Given the description of an element on the screen output the (x, y) to click on. 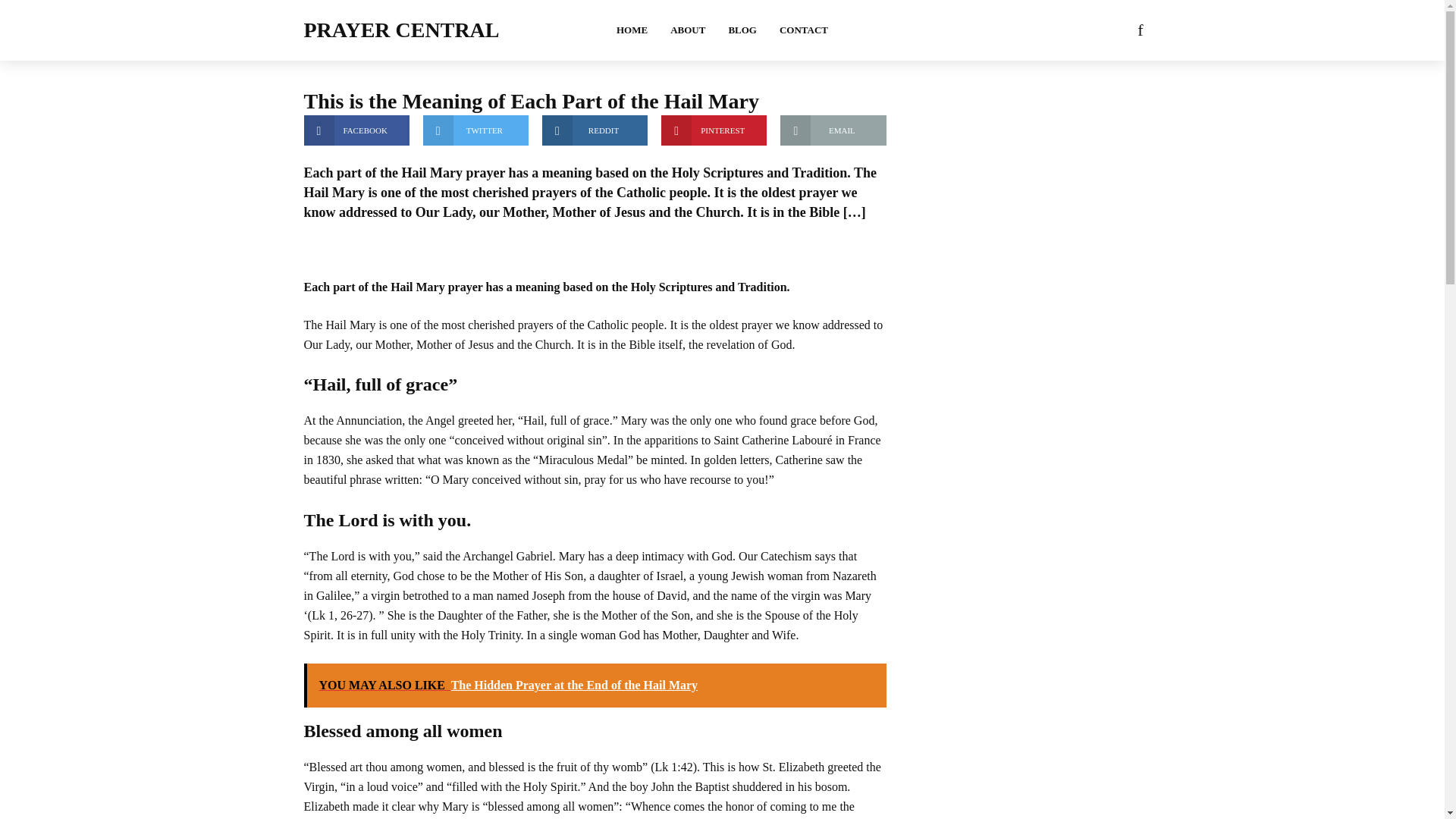
EMAIL (832, 130)
PRAYER CENTRAL (400, 29)
PINTEREST (714, 130)
HOME (632, 30)
CONTACT (804, 30)
BLOG (742, 30)
REDDIT (594, 130)
ABOUT (687, 30)
FACEBOOK (355, 130)
TWITTER (475, 130)
